Given the description of an element on the screen output the (x, y) to click on. 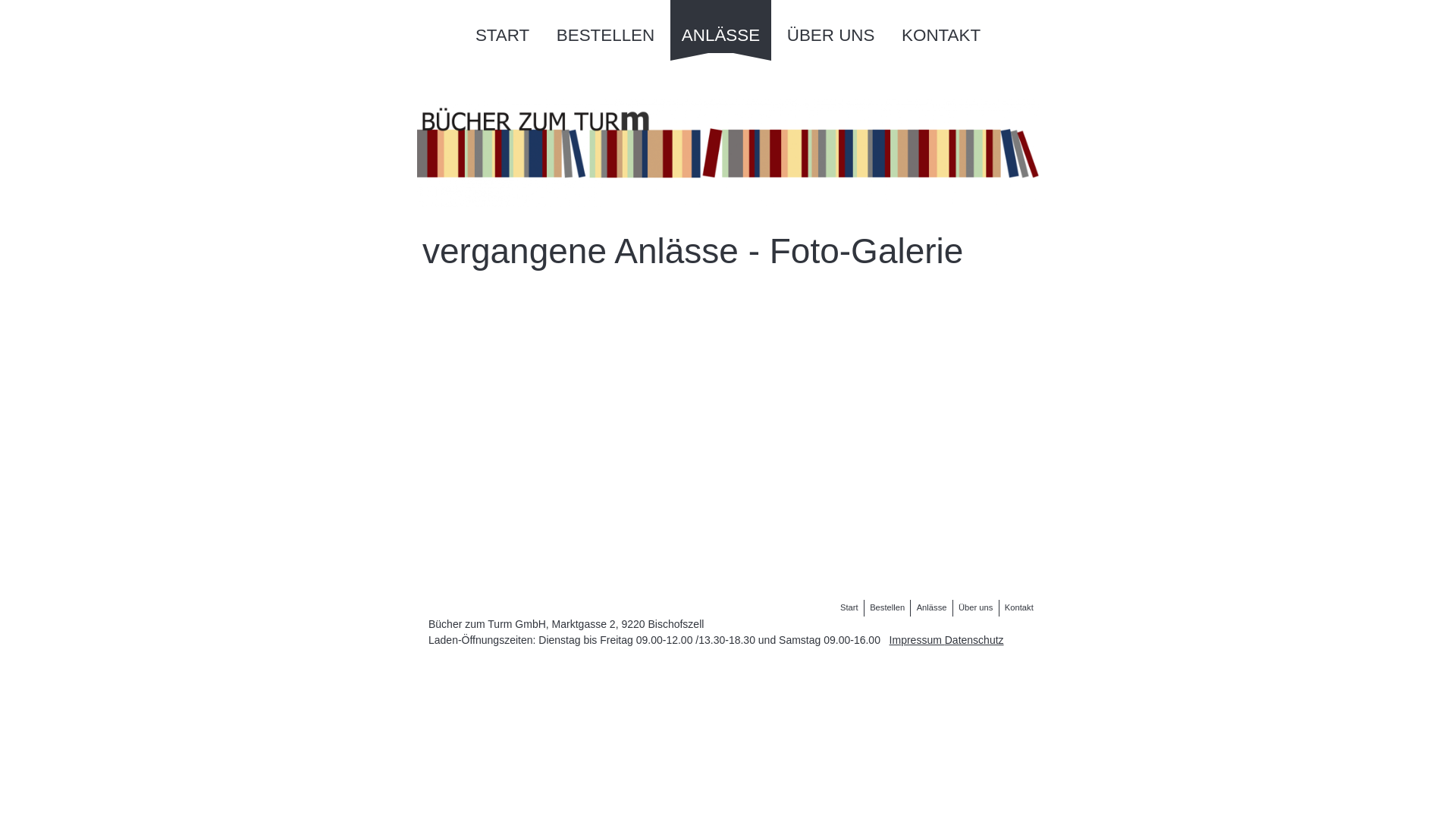
Lesung Ilma Rakusa - Januar 2010 Element type: hover (485, 544)
Lesung Klaus-Peter Wolf - Juni 2018 / Foto: EGeisser Element type: hover (607, 347)
Lesung Klaus-Peter Wolf - Juni 2018 / Foto: Klaus-Peter Wolf Element type: hover (729, 347)
Lesung Peter Stamm - September 2018 / Foto: CKehl Element type: hover (974, 299)
Lesen macht mobil - April 2018 / Foto: ElisabethGeisser Element type: hover (852, 396)
Buchvernissage Erich Schneider - November 2009 Element type: hover (485, 568)
Start Element type: text (849, 607)
Lesung Lukas Hartmann - Oktober 2010 / Foto: PeterFrei Element type: hover (729, 544)
Kontakt Element type: text (1019, 607)
Datenschutz Element type: text (974, 639)
Lesung Klaus-Peter Wolf - Juni 2018 / Foto: EGeisser Element type: hover (974, 323)
KONTAKT Element type: text (940, 26)
Lesung Daniela Schwegler - September 2017 Element type: hover (729, 396)
Lesung Peter Stamm - September 2018 / Foto: CKehl Element type: hover (607, 323)
Bestellen Element type: text (887, 607)
Lesung Peter Stamm - September 2018 / Foto: CKehl Element type: hover (485, 323)
Lesen macht mobil - April 2018 / Foto: ElisabethGeisser Element type: hover (974, 372)
BESTELLEN Element type: text (605, 26)
KrimiKost - Mai 2009 / Foto: PeterFrei Element type: hover (852, 544)
Lesung Alex Capus - Januar 2017 Element type: hover (852, 421)
Lesung Charles Lewinsky - Januar 2012 / Foto: PeterFrei Element type: hover (852, 494)
Lesung Klaus-Peter Wolf - Juni 2018 / Foto: EGeisser Element type: hover (485, 347)
Buchvernissage Ferenc Biedermann - Juni 2016 Element type: hover (607, 446)
Ausstellung Linoldrucke Marc Ganahl - Juni 2015 Element type: hover (729, 470)
WeinLese mit Nicole Marbach - November 2017 Element type: hover (974, 396)
Lesung Arno Camenisch - Oktober 2012 Element type: hover (485, 494)
Lesung Lukas Hartmann - Oktober 2010 / Foto: PeterFrei Element type: hover (607, 544)
START Element type: text (502, 26)
Lesung Alex Capus - September 2008 / Foto: PeterFrei Element type: hover (729, 568)
Lesung Alex Capus - September 2008 / Foto: PeterFrei Element type: hover (607, 568)
Lesung Catalin Dorian Florescu - September 2016 Element type: hover (974, 421)
Lesung Klaus-Peter Wolf - Juni 2018 / Foto: EGeisser Element type: hover (852, 323)
Lesung Thomas Meyer - November 2013 Element type: hover (852, 470)
Lesen macht mobil - April 2018 / Foto: ElisabethGeisser Element type: hover (607, 396)
Lesen macht mobil - April 2018 / Foto: ElisabethGeisser Element type: hover (485, 396)
Impressum Element type: text (916, 639)
Lesung Lukas Hartmann - Oktober 2010 Element type: hover (974, 519)
Lesung Peter Stamm - September 2018 / Foto: CKehl Element type: hover (729, 323)
